Given the description of an element on the screen output the (x, y) to click on. 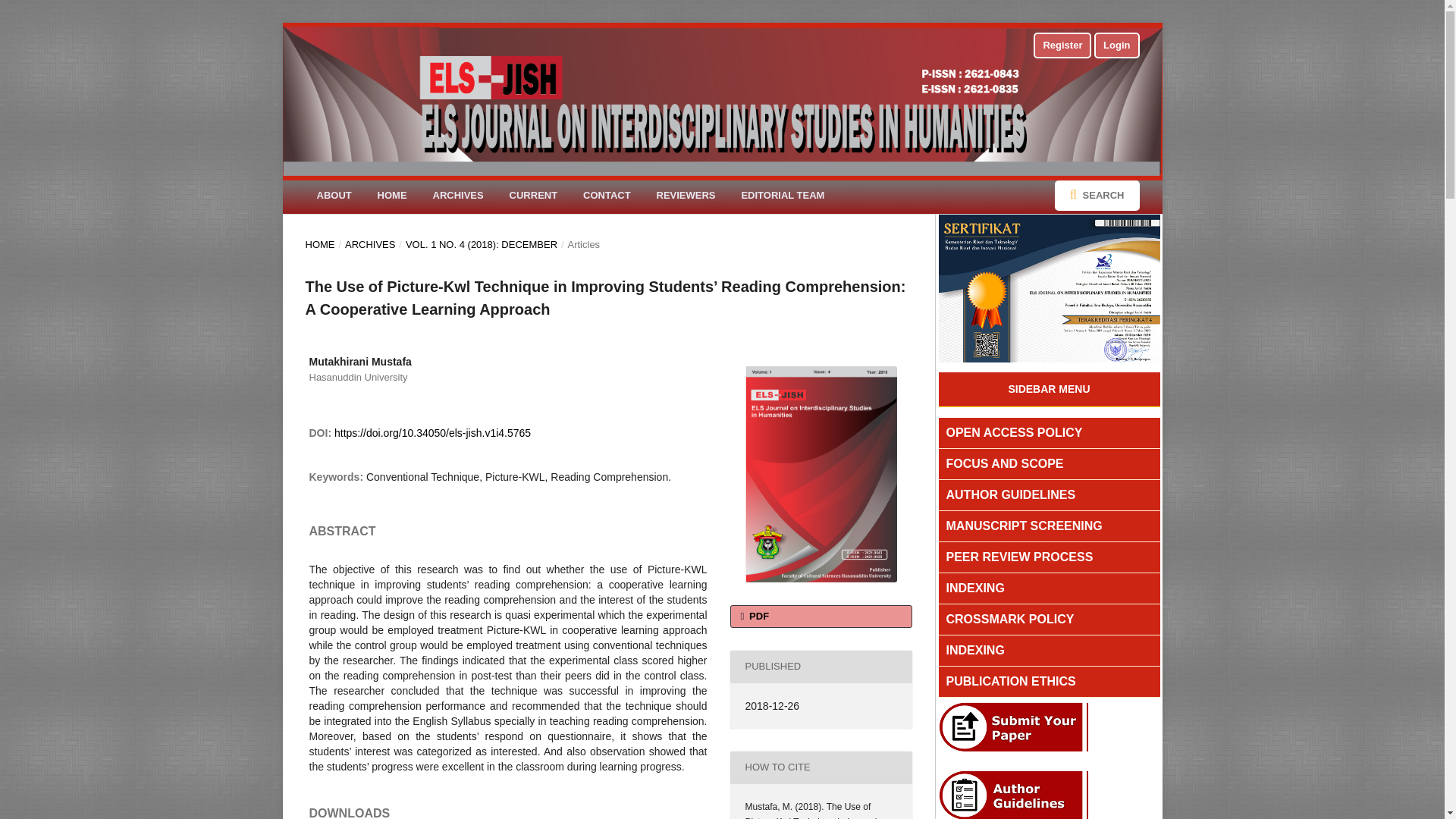
ABOUT (333, 196)
CONTACT (607, 196)
SEARCH (1096, 195)
PDF (820, 616)
Submit Your Paper (1018, 748)
ARCHIVES (458, 196)
HOME (392, 196)
ARCHIVES (369, 244)
REVIEWERS (685, 196)
Login (1116, 45)
EDITORIAL TEAM (782, 196)
Register (1061, 45)
CURRENT (533, 196)
Author Guidelines (1017, 815)
HOME (319, 244)
